Given the description of an element on the screen output the (x, y) to click on. 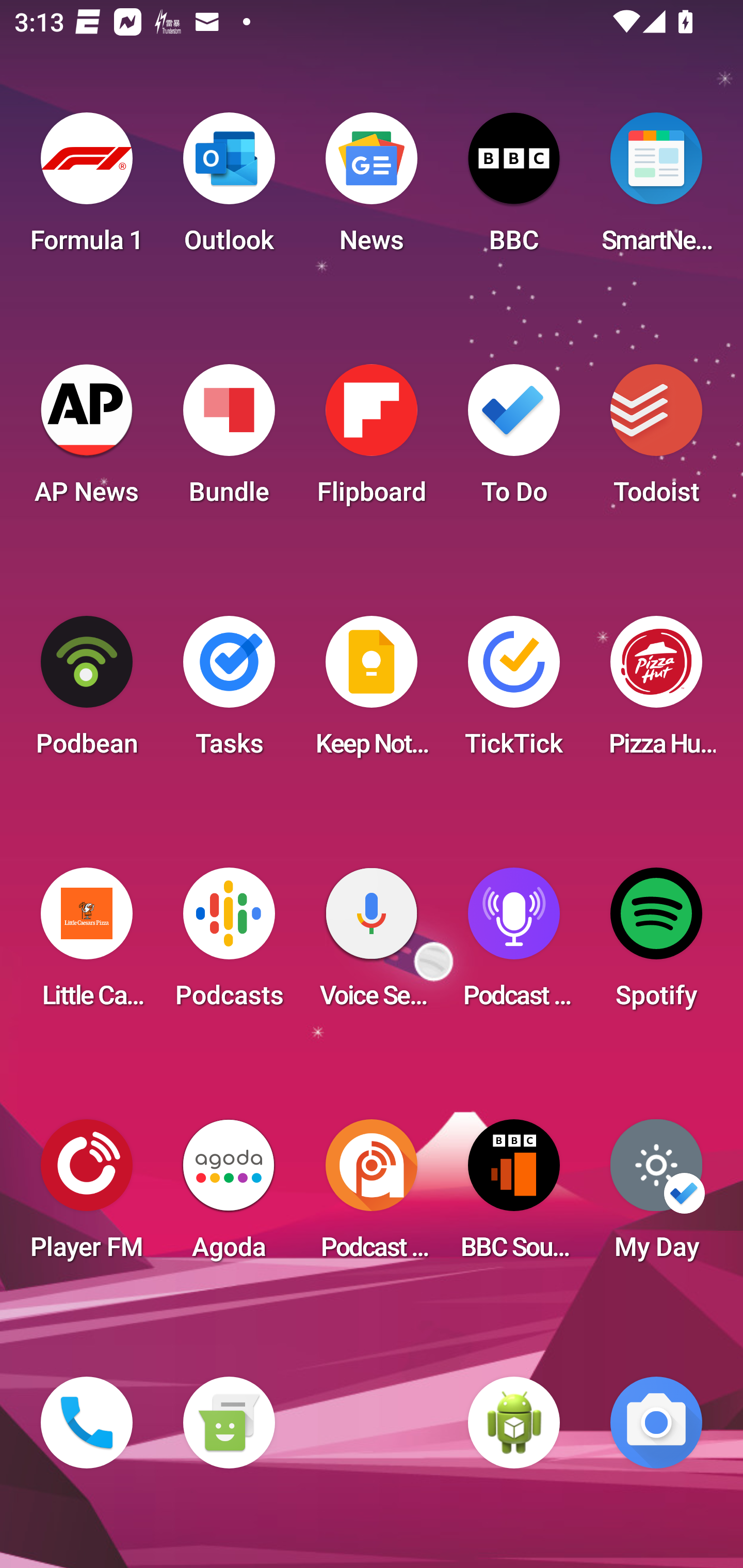
Formula 1 (86, 188)
Outlook (228, 188)
News (371, 188)
BBC (513, 188)
SmartNews (656, 188)
AP News (86, 440)
Bundle (228, 440)
Flipboard (371, 440)
To Do (513, 440)
Todoist (656, 440)
Podbean (86, 692)
Tasks (228, 692)
Keep Notes (371, 692)
TickTick (513, 692)
Pizza Hut HK & Macau (656, 692)
Little Caesars Pizza (86, 943)
Podcasts (228, 943)
Voice Search (371, 943)
Podcast Player (513, 943)
Spotify (656, 943)
Player FM (86, 1195)
Agoda (228, 1195)
Podcast Addict (371, 1195)
BBC Sounds (513, 1195)
My Day (656, 1195)
Phone (86, 1422)
Messaging (228, 1422)
WebView Browser Tester (513, 1422)
Camera (656, 1422)
